Given the description of an element on the screen output the (x, y) to click on. 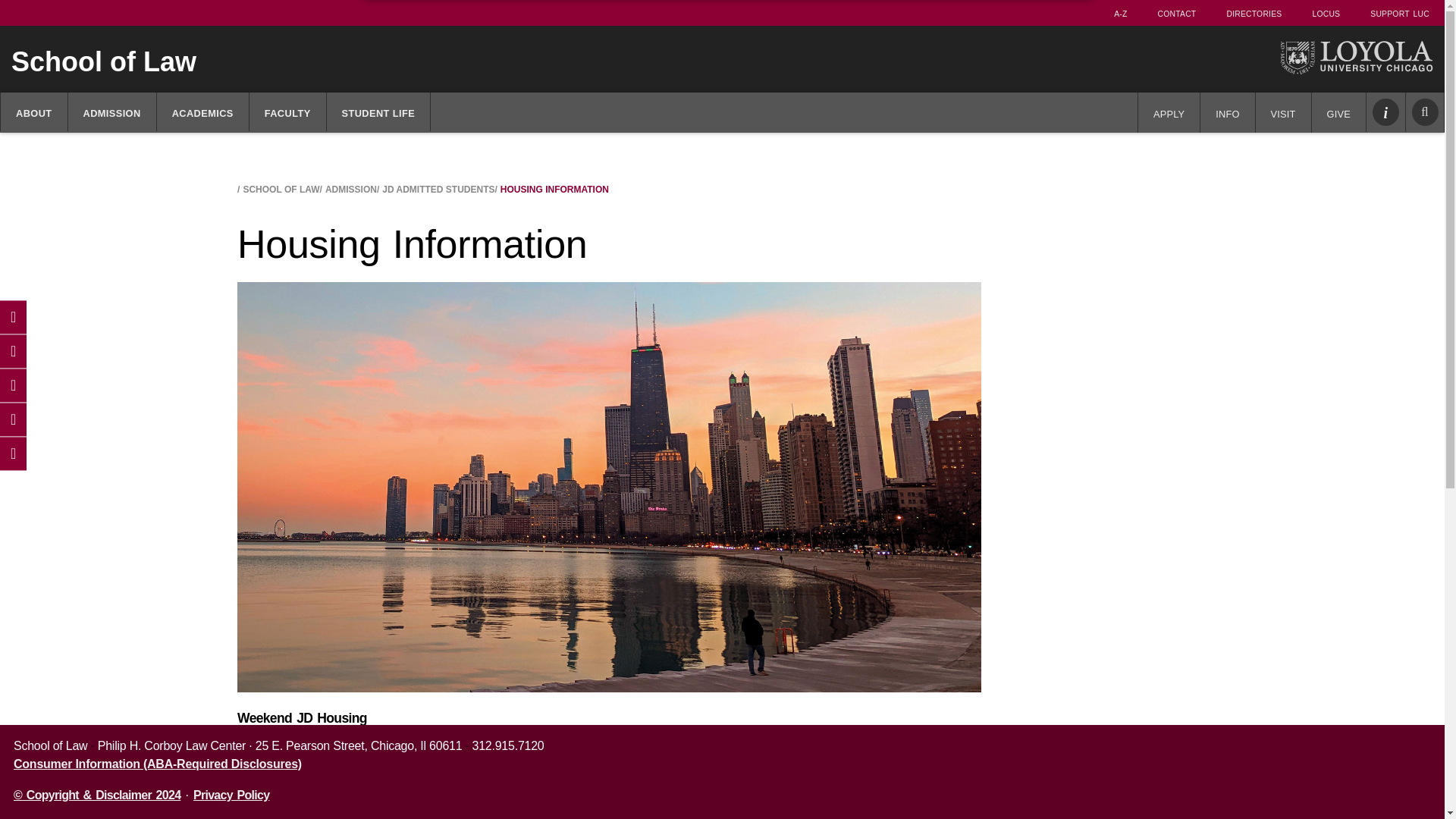
Contact (1176, 12)
A-Z (1120, 12)
Info Links (1386, 112)
LOCUS (1326, 12)
School of Law (582, 61)
Search (1425, 112)
Loyola University Chicago (1355, 57)
Directories (1254, 12)
